Given the description of an element on the screen output the (x, y) to click on. 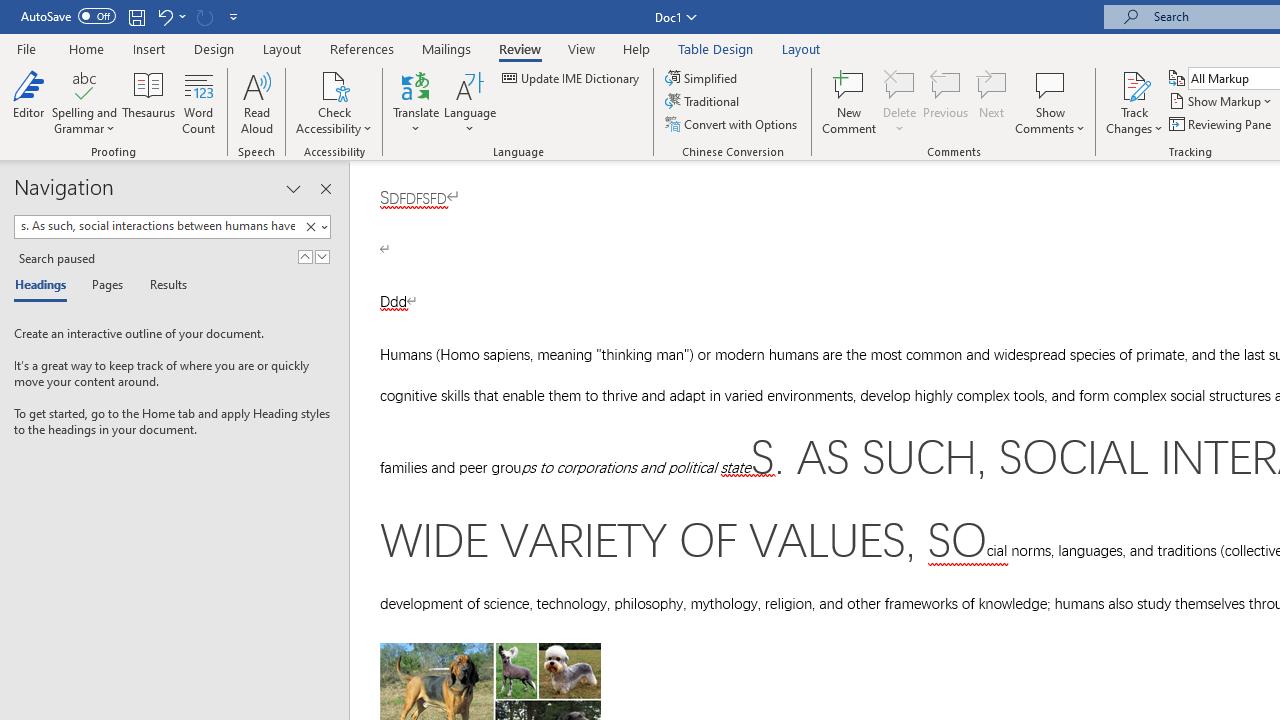
Previous Result (304, 256)
Table Design (715, 48)
Spelling and Grammar (84, 84)
Search document (157, 226)
Results (161, 285)
Update IME Dictionary... (572, 78)
Undo Style (164, 15)
Check Accessibility (334, 84)
New Comment (849, 102)
Traditional (703, 101)
